Given the description of an element on the screen output the (x, y) to click on. 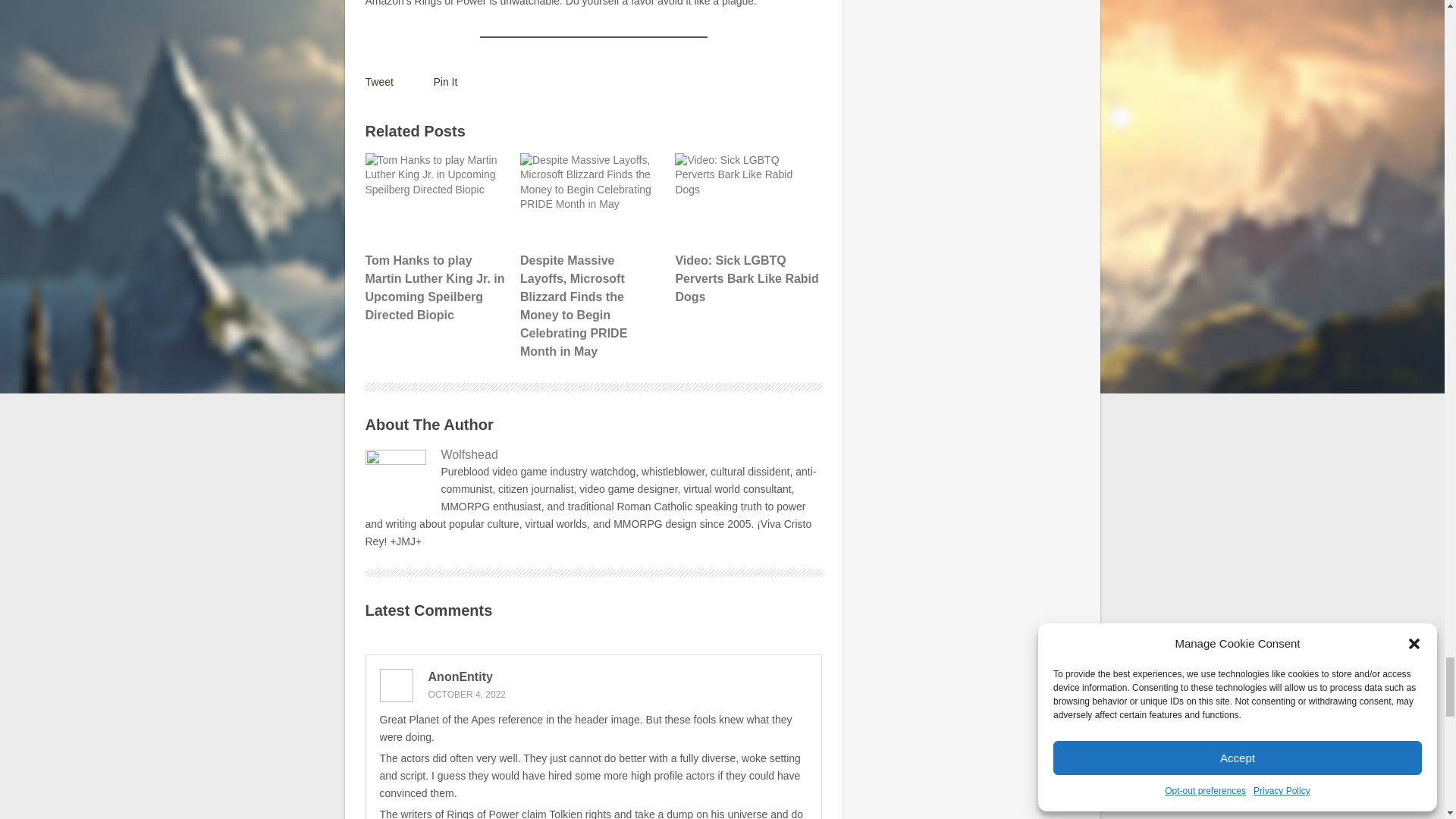
Video: Sick LGBTQ Perverts Bark Like Rabid Dogs (746, 229)
Video: Sick LGBTQ Perverts Bark Like Rabid Dogs (746, 198)
